Given the description of an element on the screen output the (x, y) to click on. 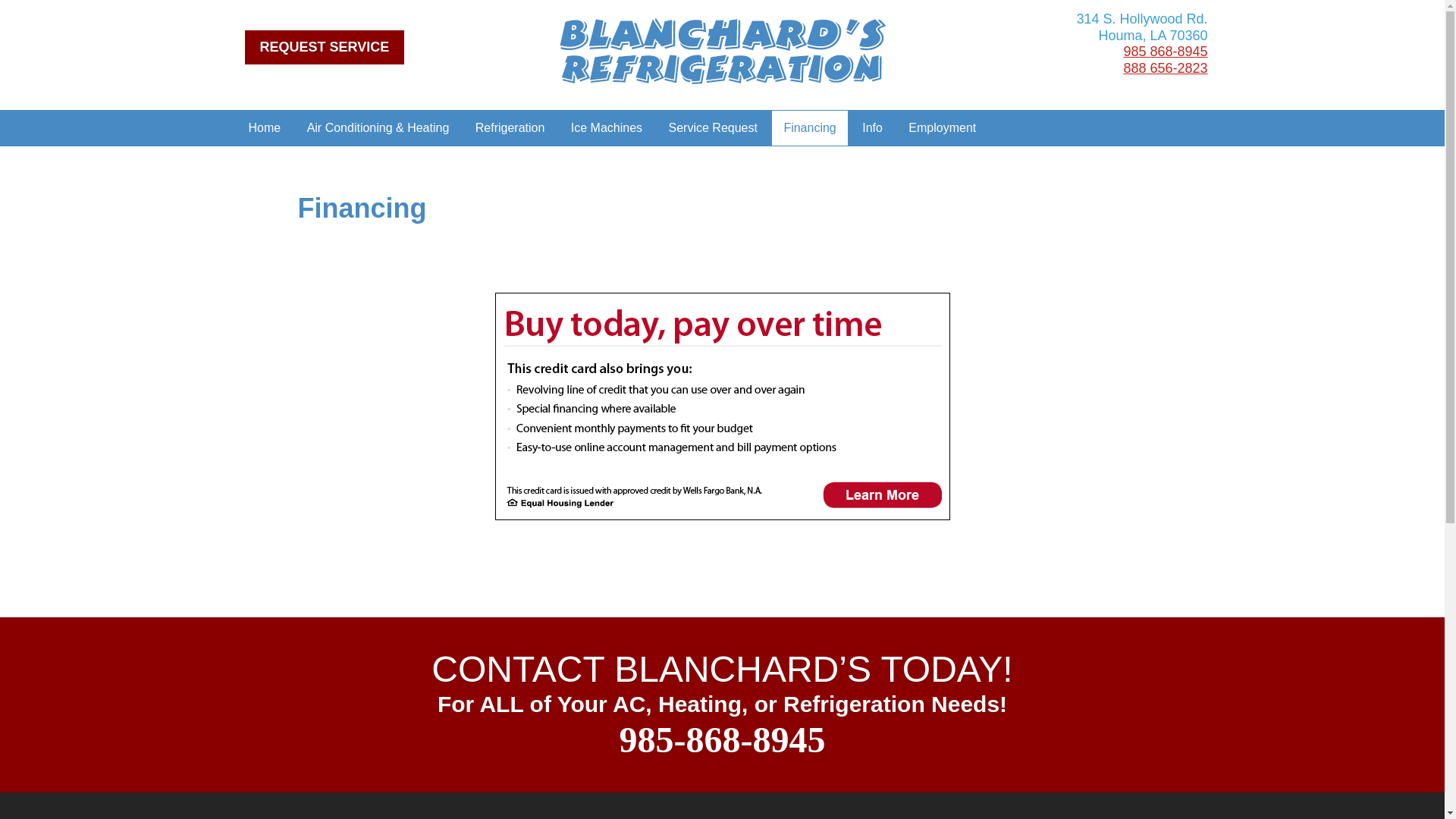
985 868-8945 (1164, 51)
Employment (941, 127)
Financing (809, 127)
Blanchard's Refrigeration (721, 49)
888 656-2823 (1164, 68)
Ice Machines (606, 127)
Home (263, 127)
Info (871, 127)
REQUEST SERVICE (324, 47)
